Given the description of an element on the screen output the (x, y) to click on. 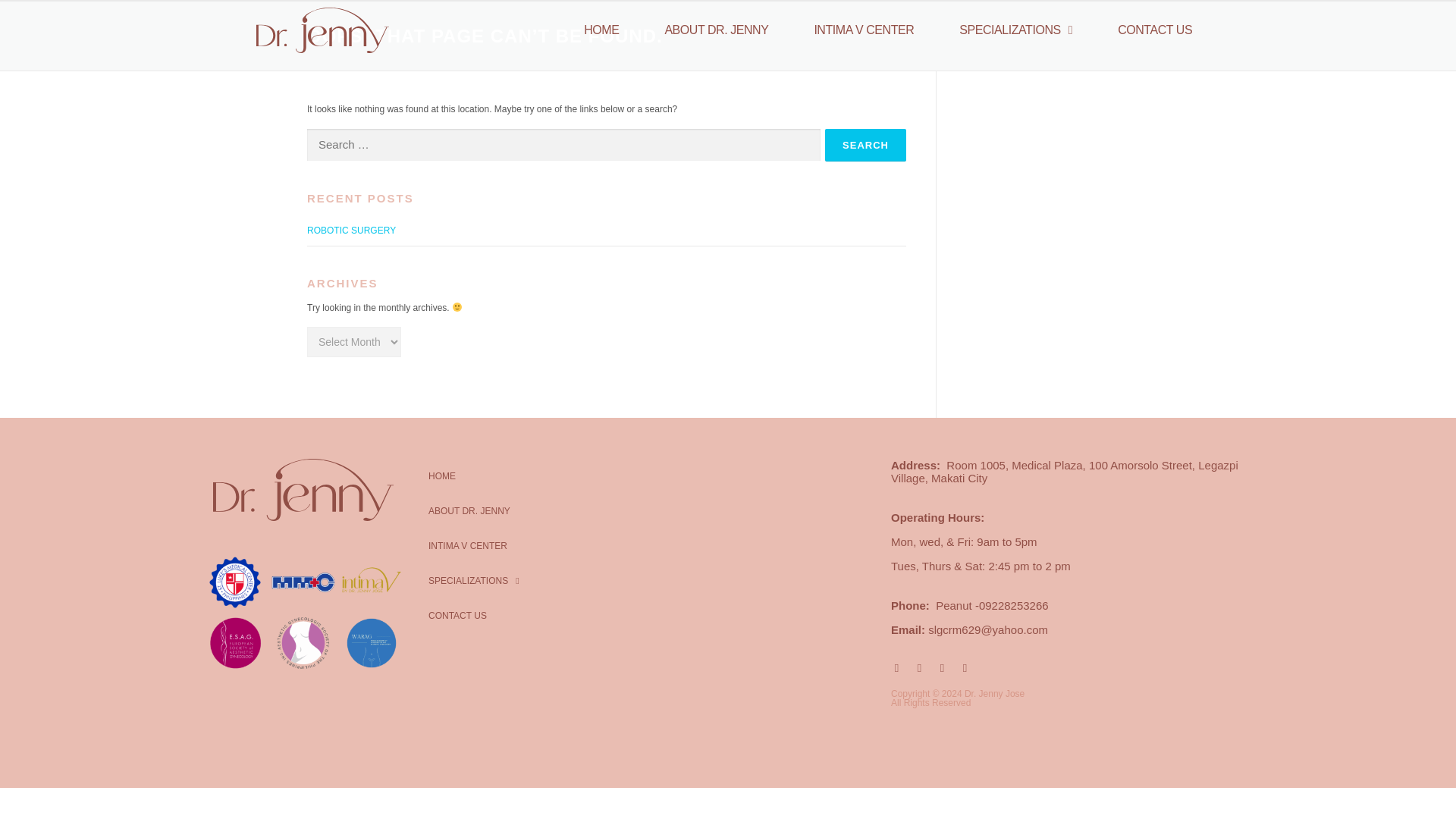
HOME (441, 475)
CONTACT US (1154, 30)
Search (865, 144)
ABOUT DR. JENNY (716, 30)
ROBOTIC SURGERY (351, 230)
INTIMA V CENTER (467, 545)
Search (865, 144)
SPECIALIZATIONS (473, 580)
SPECIALIZATIONS (1016, 30)
INTIMA V CENTER (863, 30)
ABOUT DR. JENNY (469, 510)
CONTACT US (457, 615)
HOME (601, 30)
Search (865, 144)
